Given the description of an element on the screen output the (x, y) to click on. 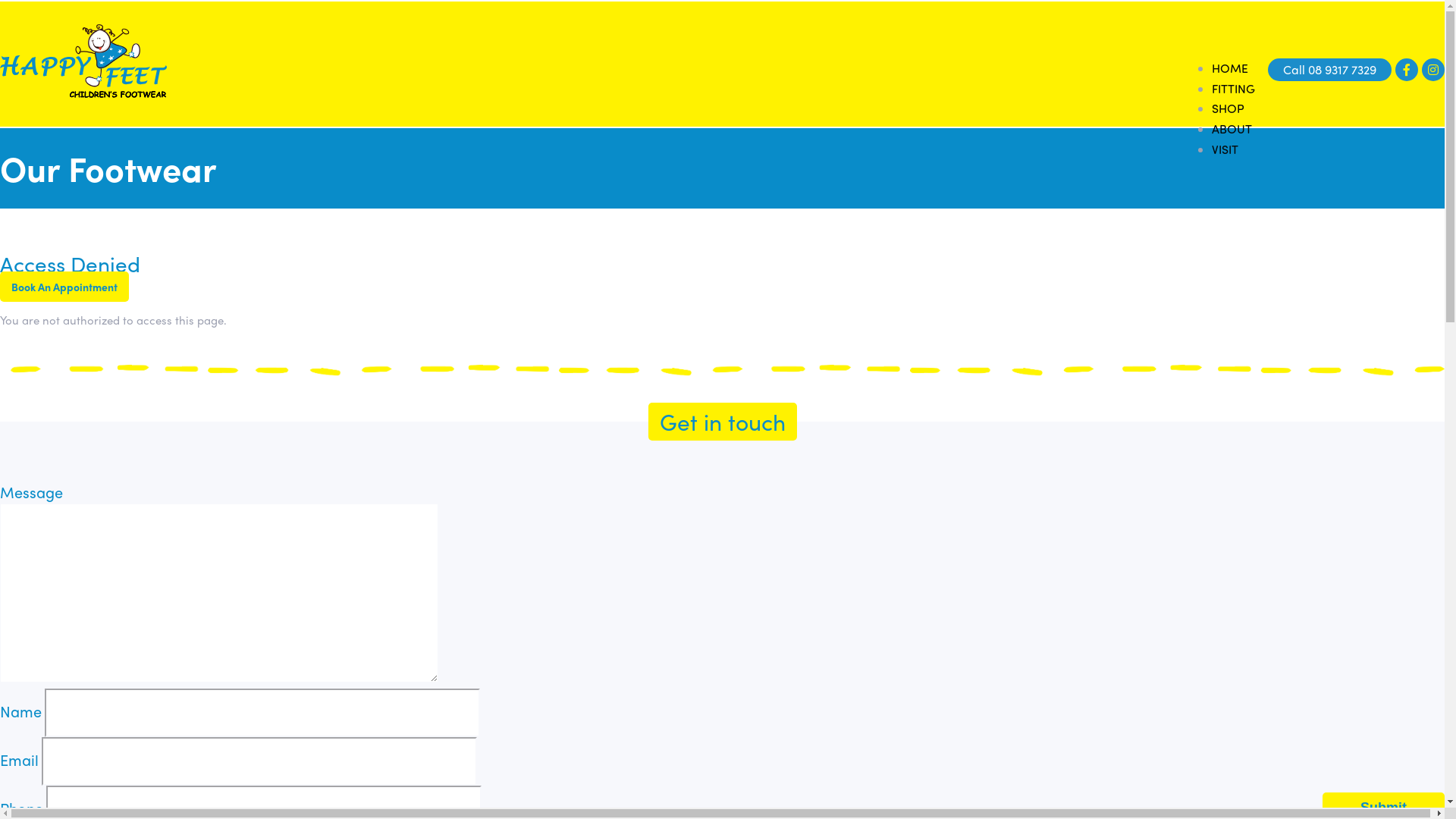
HOME Element type: text (1229, 67)
Skip to main content Element type: text (0, 1)
Call 08 9317 7329 Element type: text (1329, 69)
SHOP Element type: text (1227, 108)
FITTING Element type: text (1233, 88)
VISIT Element type: text (1224, 148)
ABOUT Element type: text (1231, 128)
Book An Appointment Element type: text (64, 286)
Home Element type: hover (83, 63)
